Given the description of an element on the screen output the (x, y) to click on. 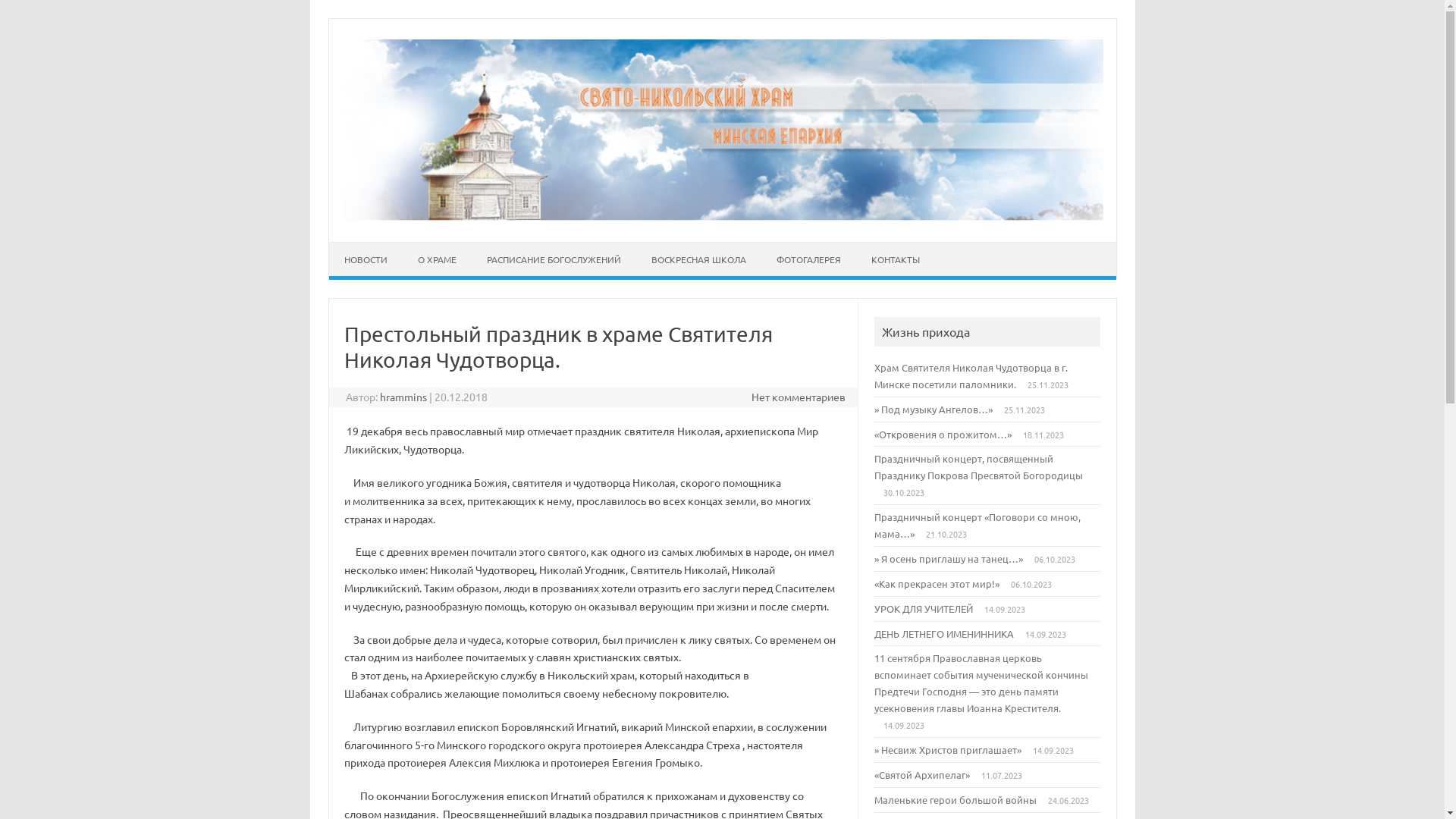
hrammins Element type: text (402, 396)
